Given the description of an element on the screen output the (x, y) to click on. 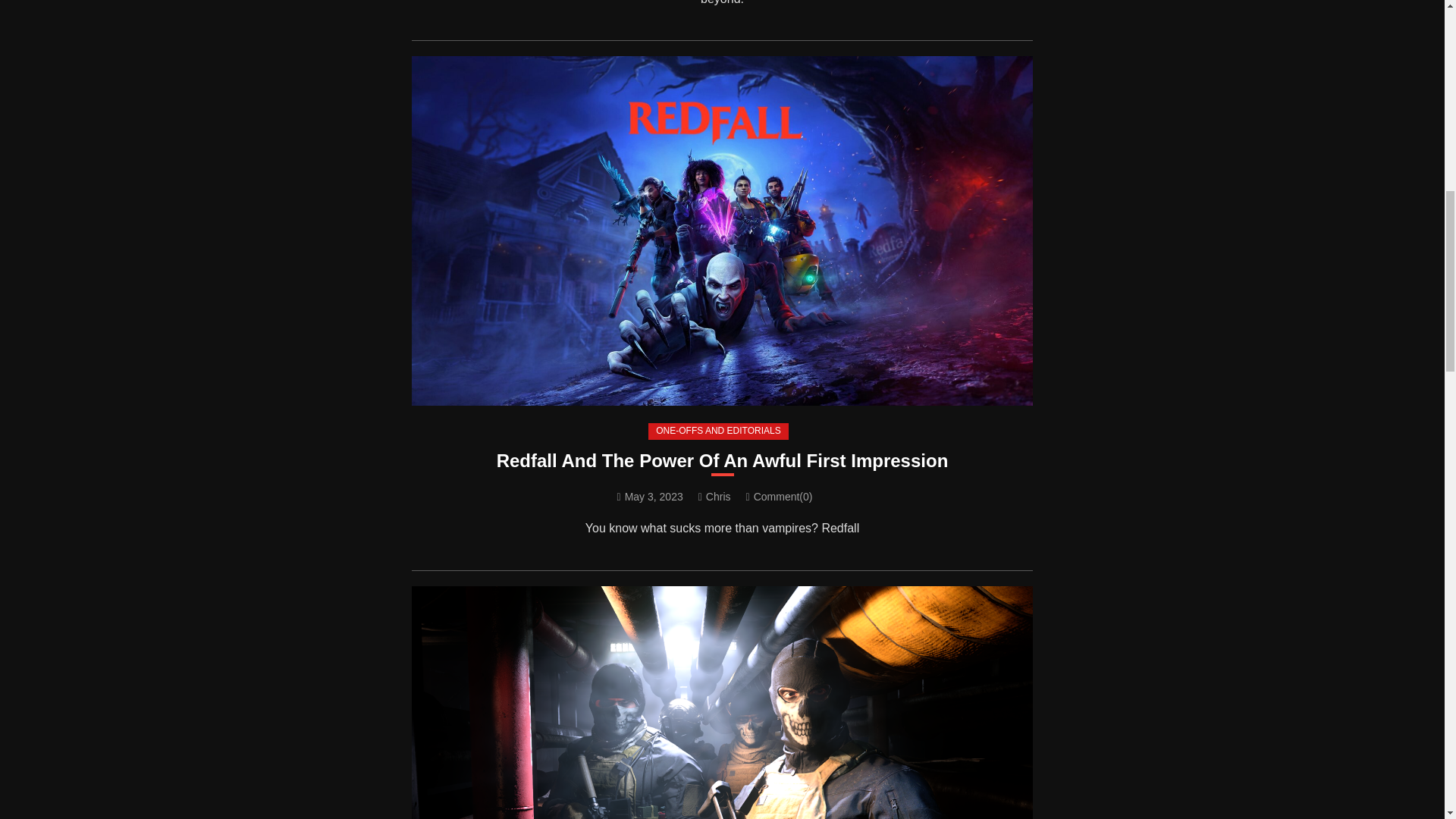
ONE-OFFS AND EDITORIALS (717, 431)
Redfall And The Power Of An Awful First Impression (722, 460)
May 3, 2023 (653, 496)
Chris (718, 496)
